Given the description of an element on the screen output the (x, y) to click on. 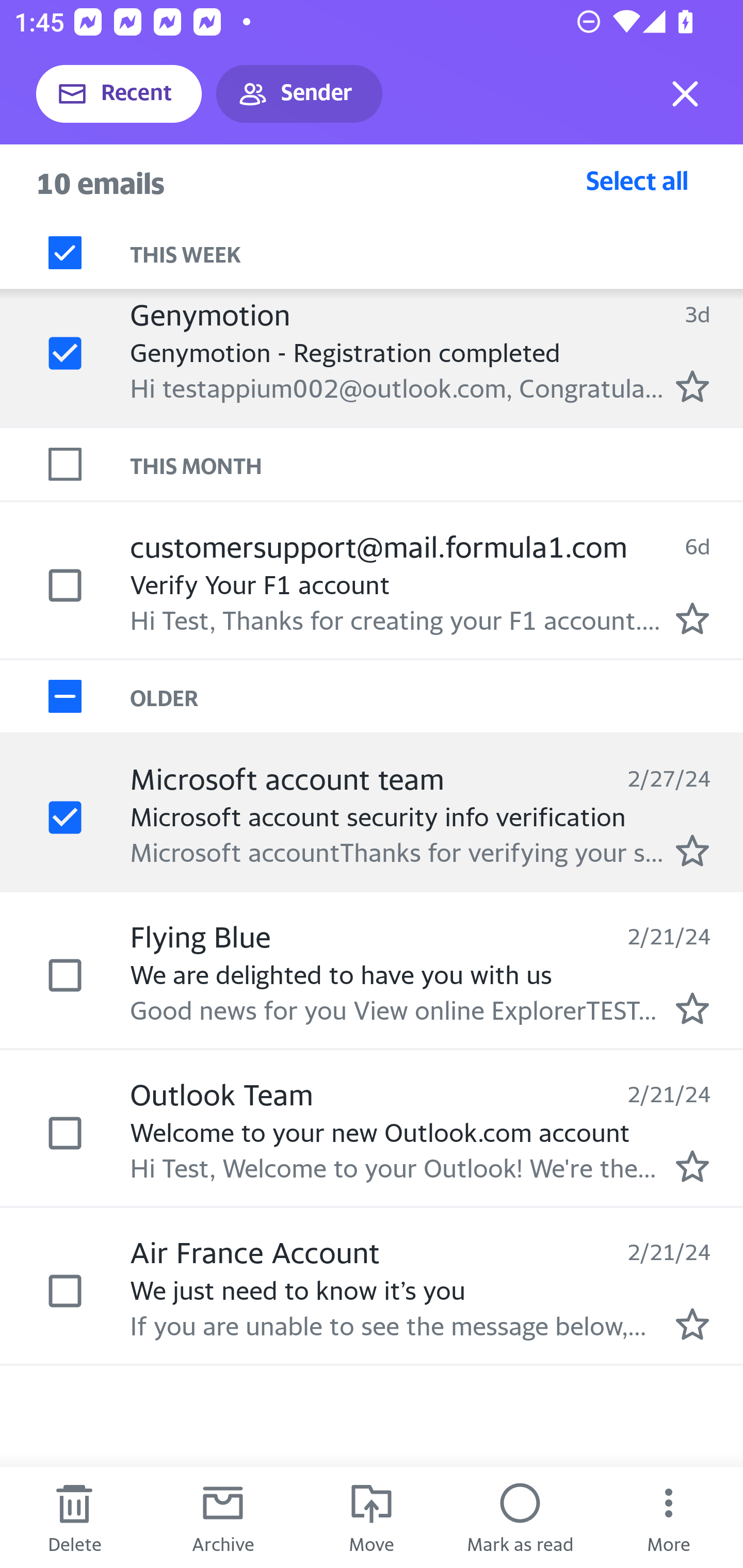
Sender (299, 93)
Exit selection mode (684, 93)
Select all (637, 180)
Mark as starred. (692, 386)
THIS MONTH (436, 464)
Mark as starred. (692, 618)
OLDER (436, 696)
Mark as starred. (692, 850)
Mark as starred. (692, 1008)
Mark as starred. (692, 1165)
Mark as starred. (692, 1324)
Delete (74, 1517)
Archive (222, 1517)
Move (371, 1517)
Mark as read (519, 1517)
More (668, 1517)
